Given the description of an element on the screen output the (x, y) to click on. 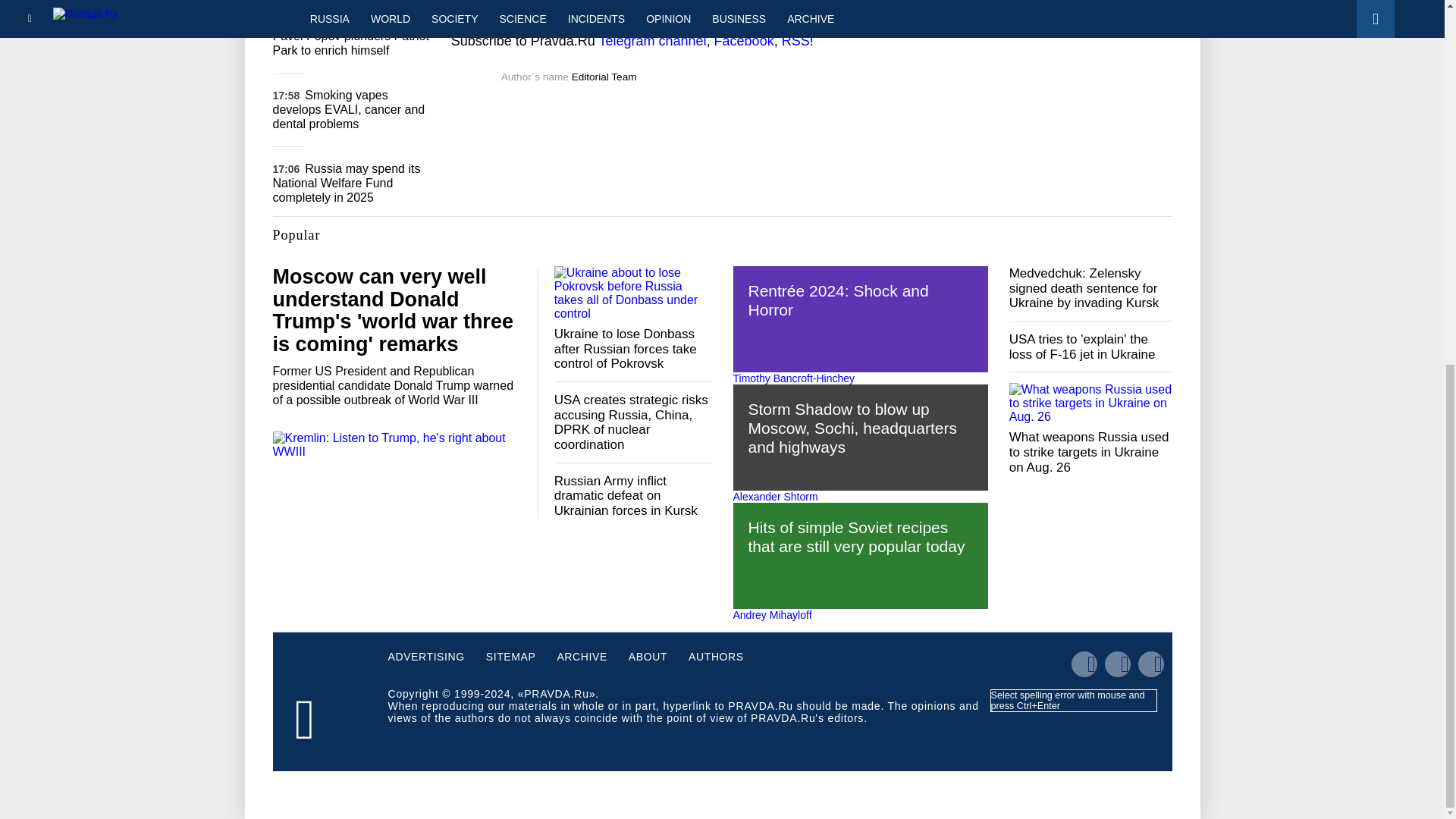
Back to top (1418, 245)
Editorial Team (604, 76)
Facebook (744, 40)
Telegram channel (652, 40)
Smoking vapes develops EVALI, cancer and dental problems (349, 109)
RSS (795, 40)
